Given the description of an element on the screen output the (x, y) to click on. 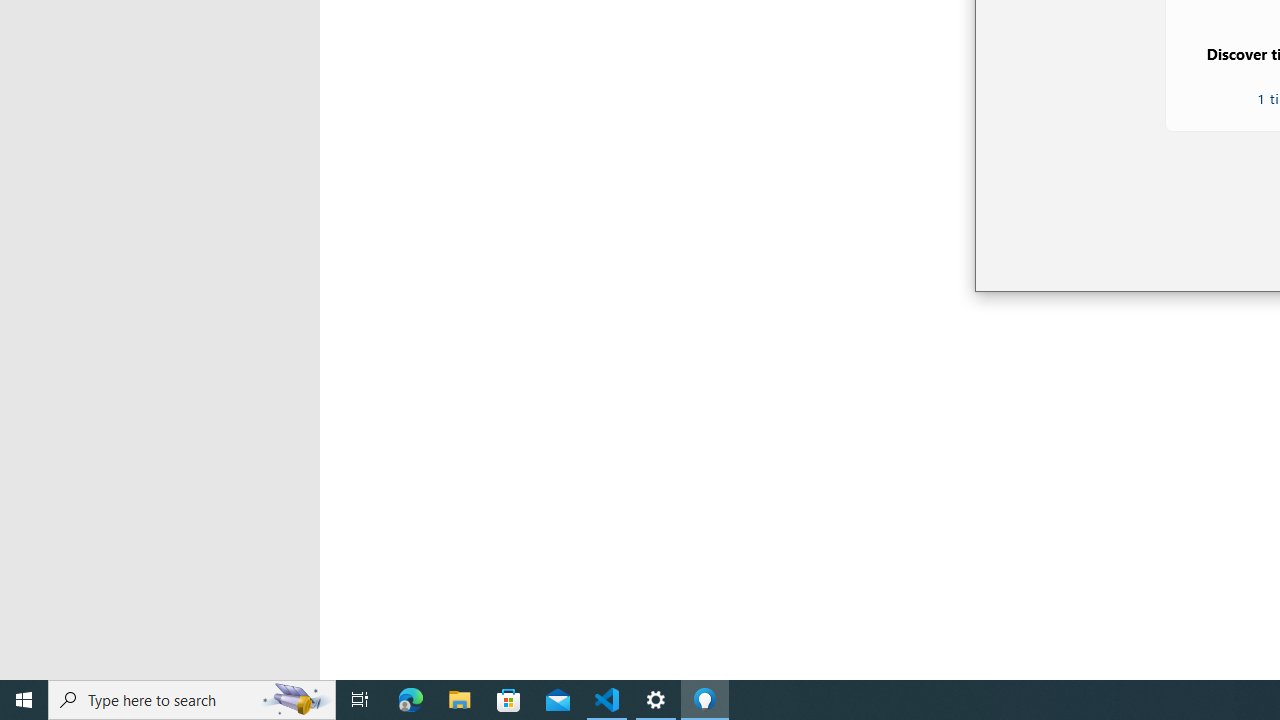
Visual Studio Code - 1 running window (607, 699)
File Explorer (460, 699)
Search highlights icon opens search home window (295, 699)
Start (24, 699)
Tips - 1 running window (704, 699)
Microsoft Edge (411, 699)
Task View (359, 699)
Type here to search (191, 699)
Settings - 1 running window (656, 699)
Microsoft Store (509, 699)
